Given the description of an element on the screen output the (x, y) to click on. 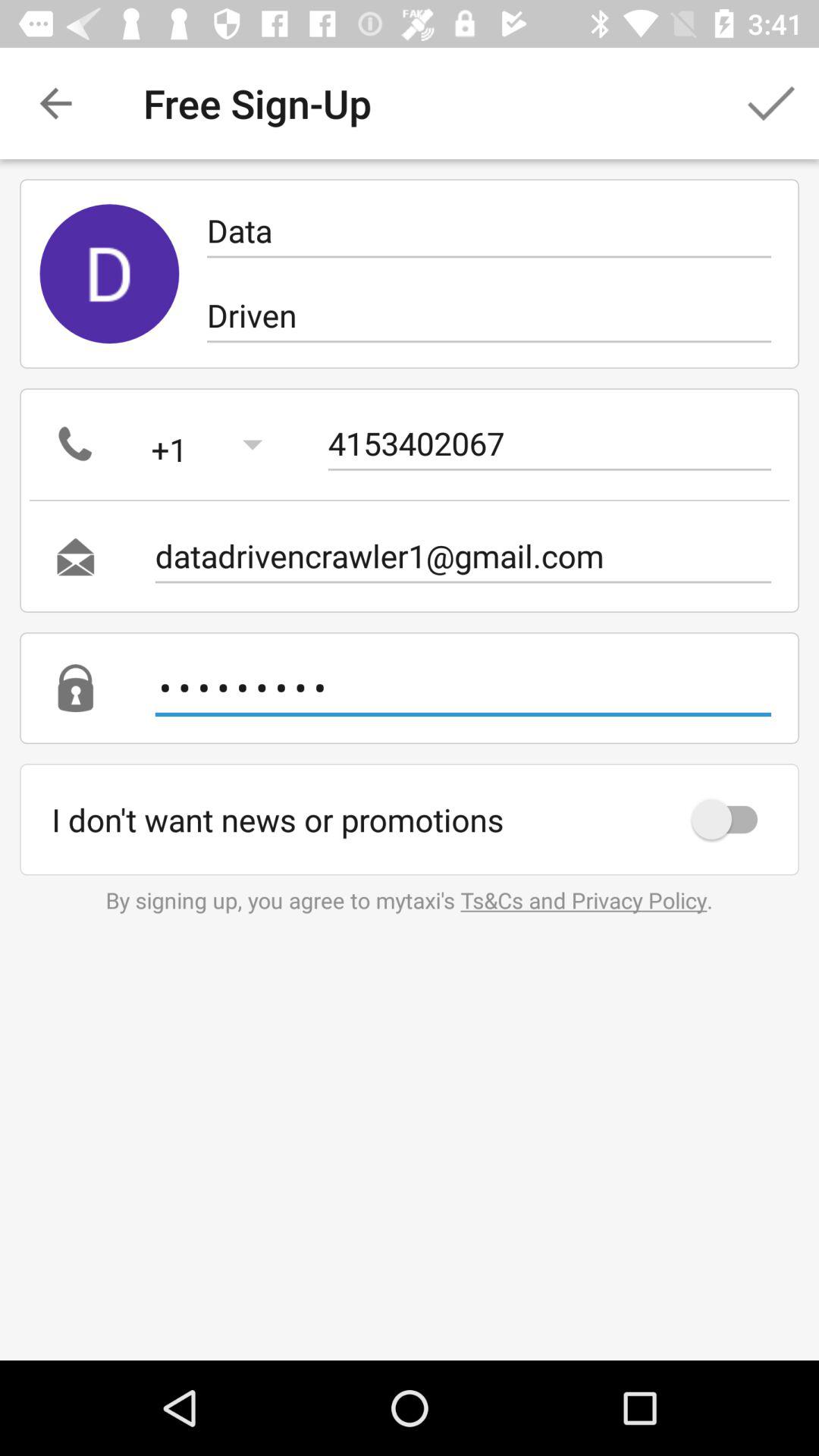
open the datadrivencrawler1@gmail.com (463, 556)
